Given the description of an element on the screen output the (x, y) to click on. 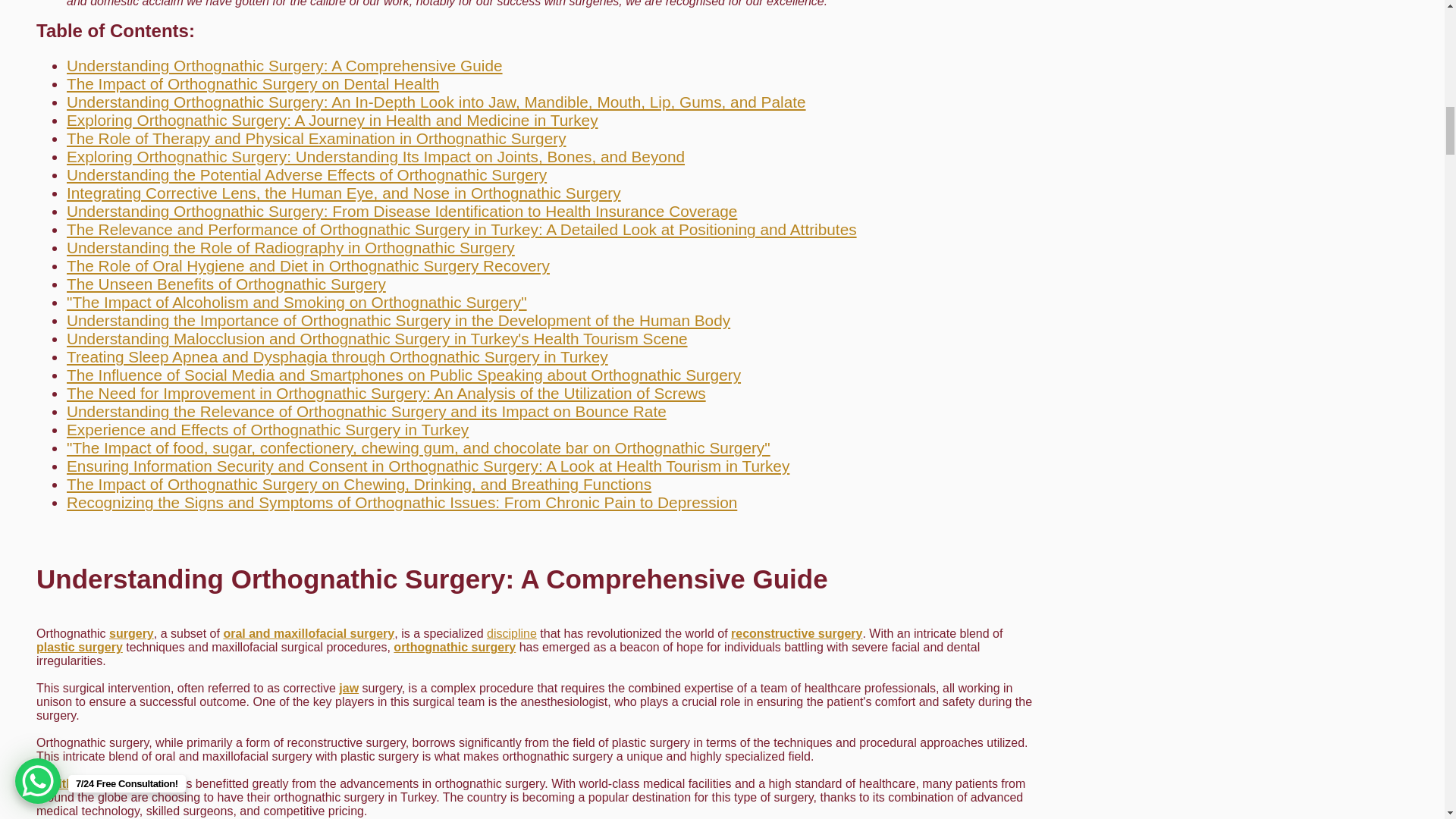
discipline (511, 633)
